Given the description of an element on the screen output the (x, y) to click on. 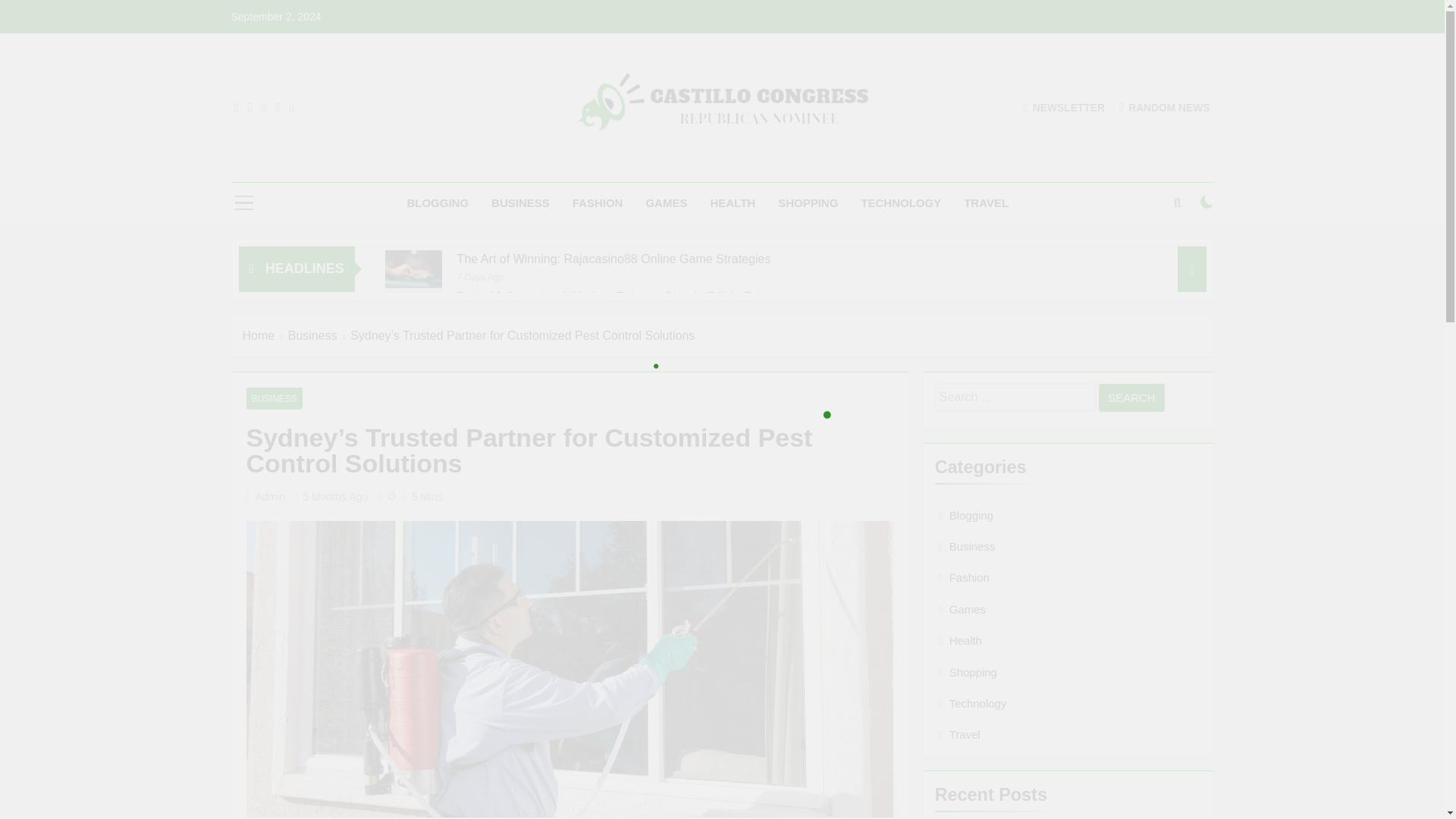
BUSINESS (520, 202)
HEALTH (732, 202)
Delta 10 Gummies A Modern Twist on Classic Edible Enjoyment (629, 296)
NEWSLETTER (1064, 106)
on (1206, 201)
The Art of Winning: Rajacasino88 Online Game Strategies (614, 258)
RANDOM NEWS (1164, 106)
BLOGGING (437, 202)
The Art of Winning: Rajacasino88 Online Game Strategies (614, 258)
TECHNOLOGY (900, 202)
